Given the description of an element on the screen output the (x, y) to click on. 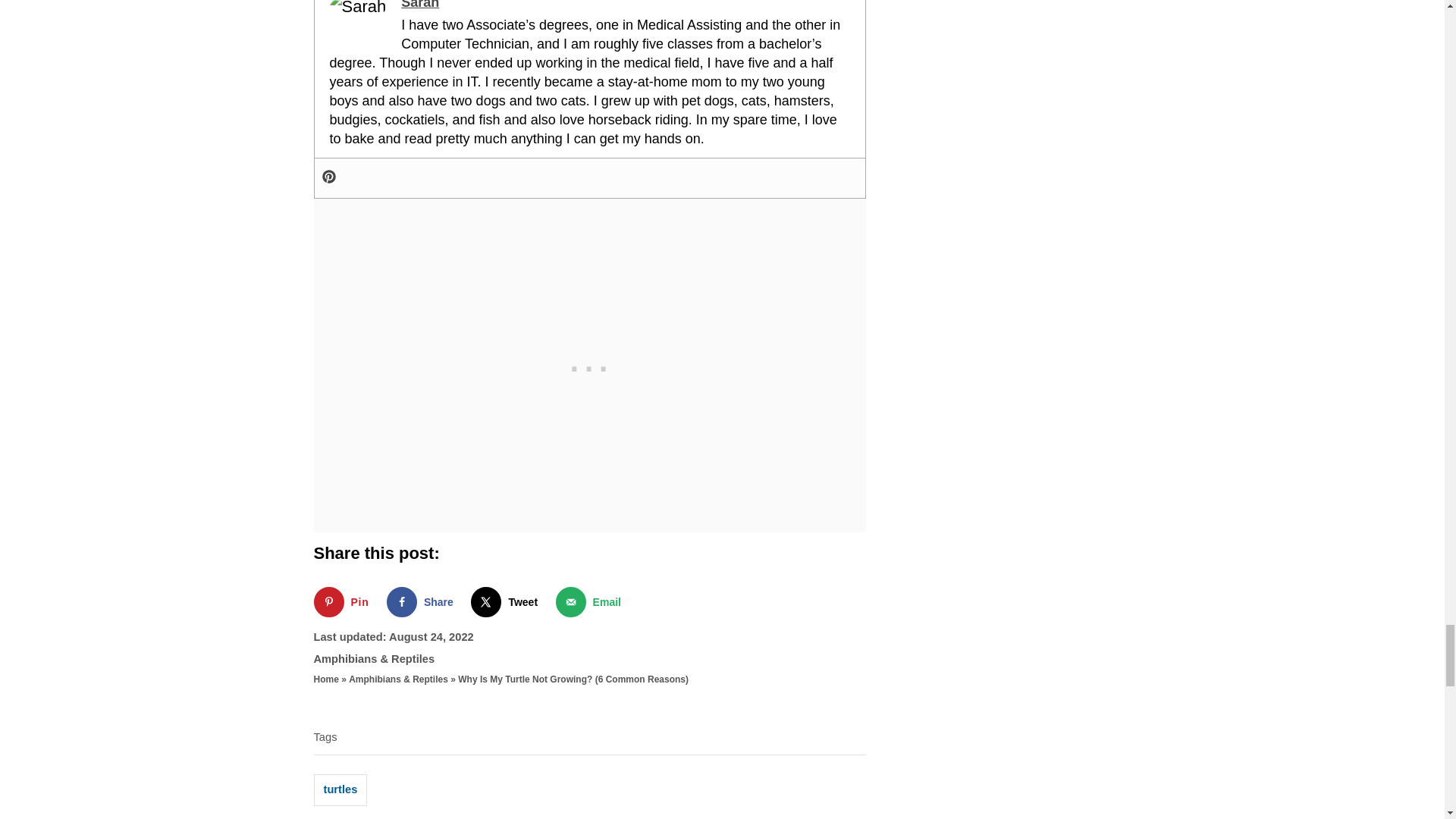
Share on Facebook (423, 602)
Home (326, 679)
Tweet (507, 602)
Share (423, 602)
Share on X (507, 602)
Email (591, 602)
Save to Pinterest (344, 602)
Pin (344, 602)
Sarah (420, 4)
Send over email (591, 602)
turtles (341, 789)
